Given the description of an element on the screen output the (x, y) to click on. 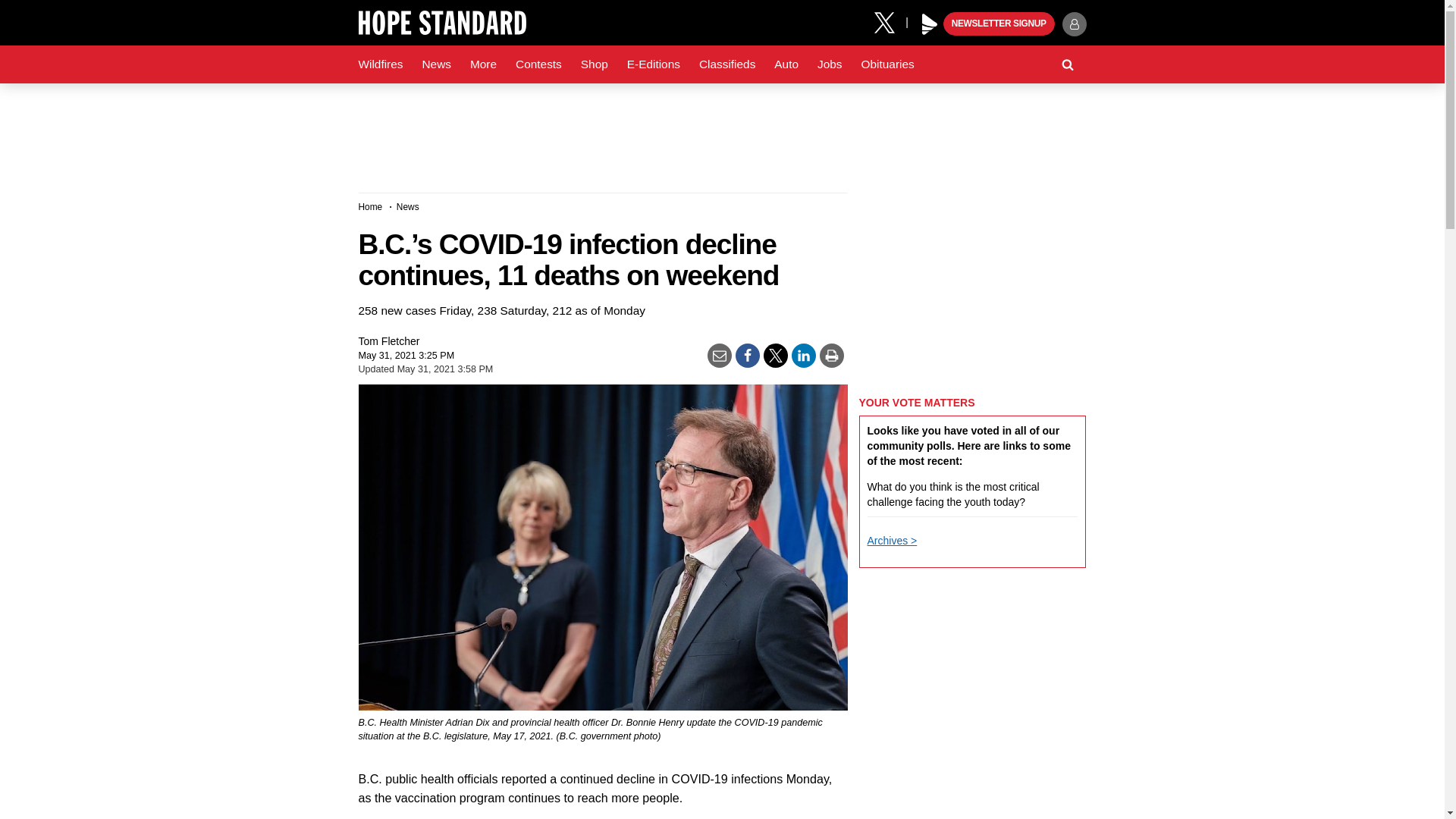
X (889, 21)
NEWSLETTER SIGNUP (998, 24)
Black Press Media (929, 24)
Play (929, 24)
News (435, 64)
Wildfires (380, 64)
